Given the description of an element on the screen output the (x, y) to click on. 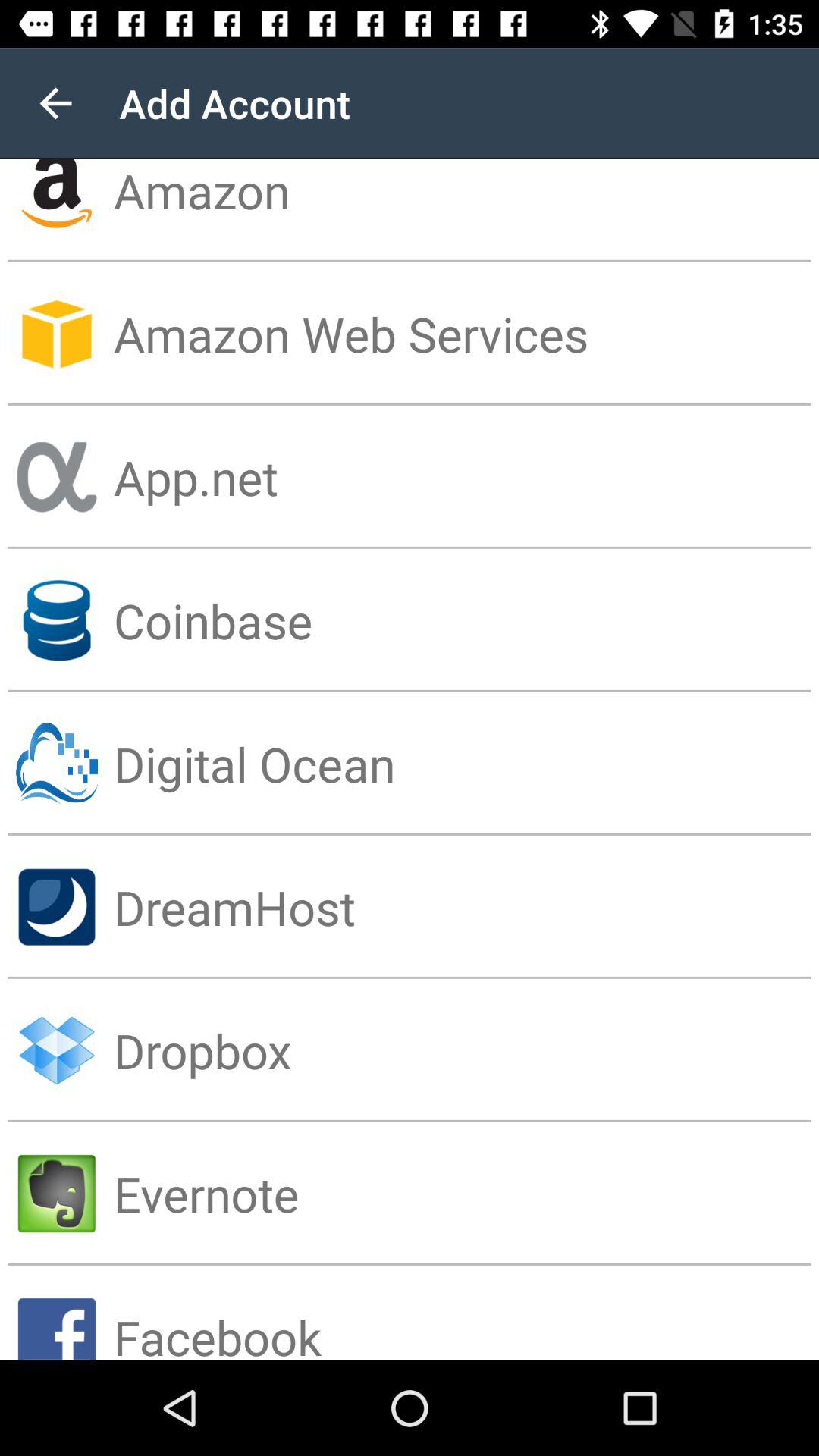
click the dropbox app (466, 1050)
